Given the description of an element on the screen output the (x, y) to click on. 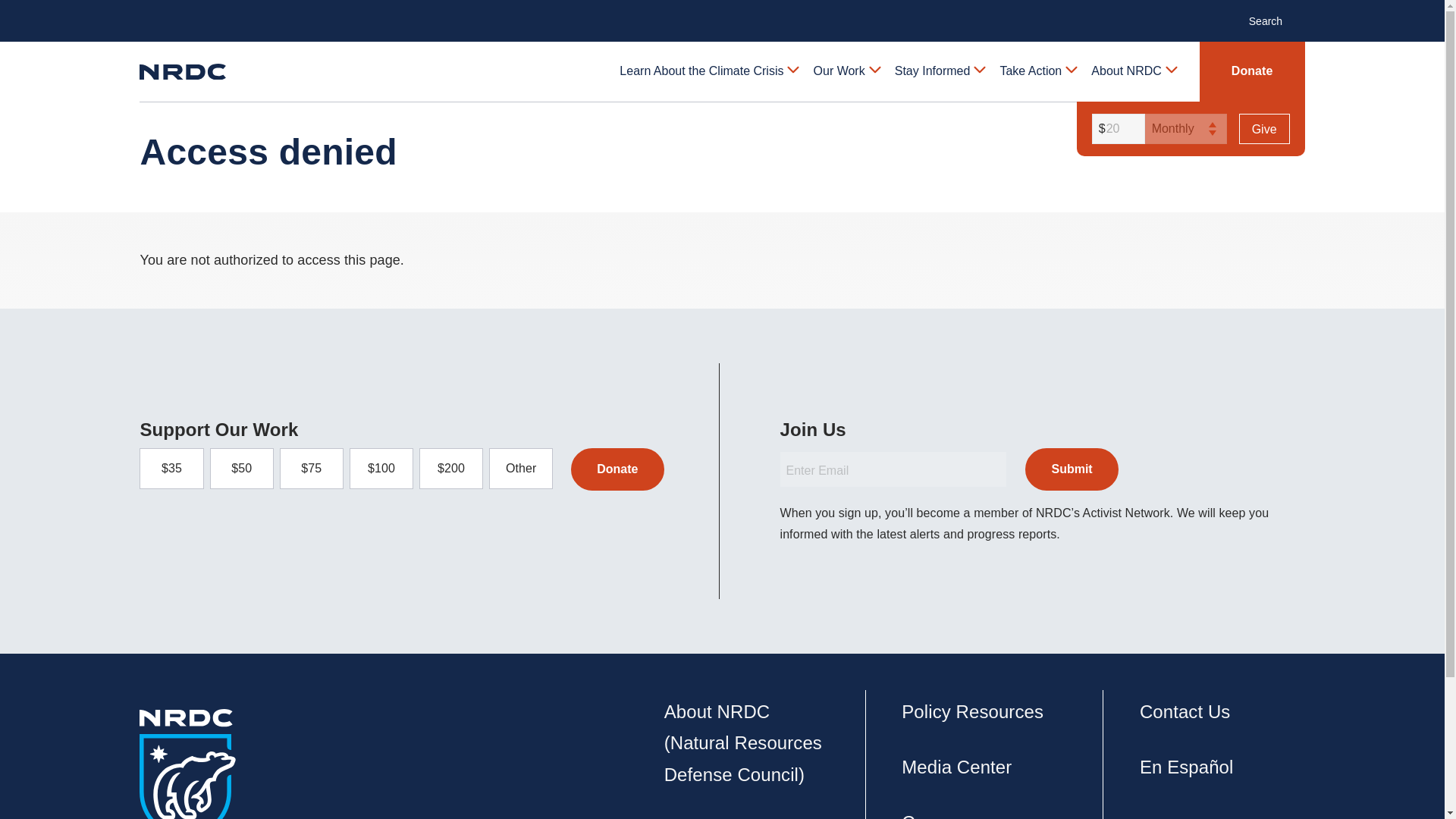
Learn About the Climate Crisis (707, 71)
20 (1116, 128)
Our Work (846, 71)
Skip to main content (721, 12)
